Given the description of an element on the screen output the (x, y) to click on. 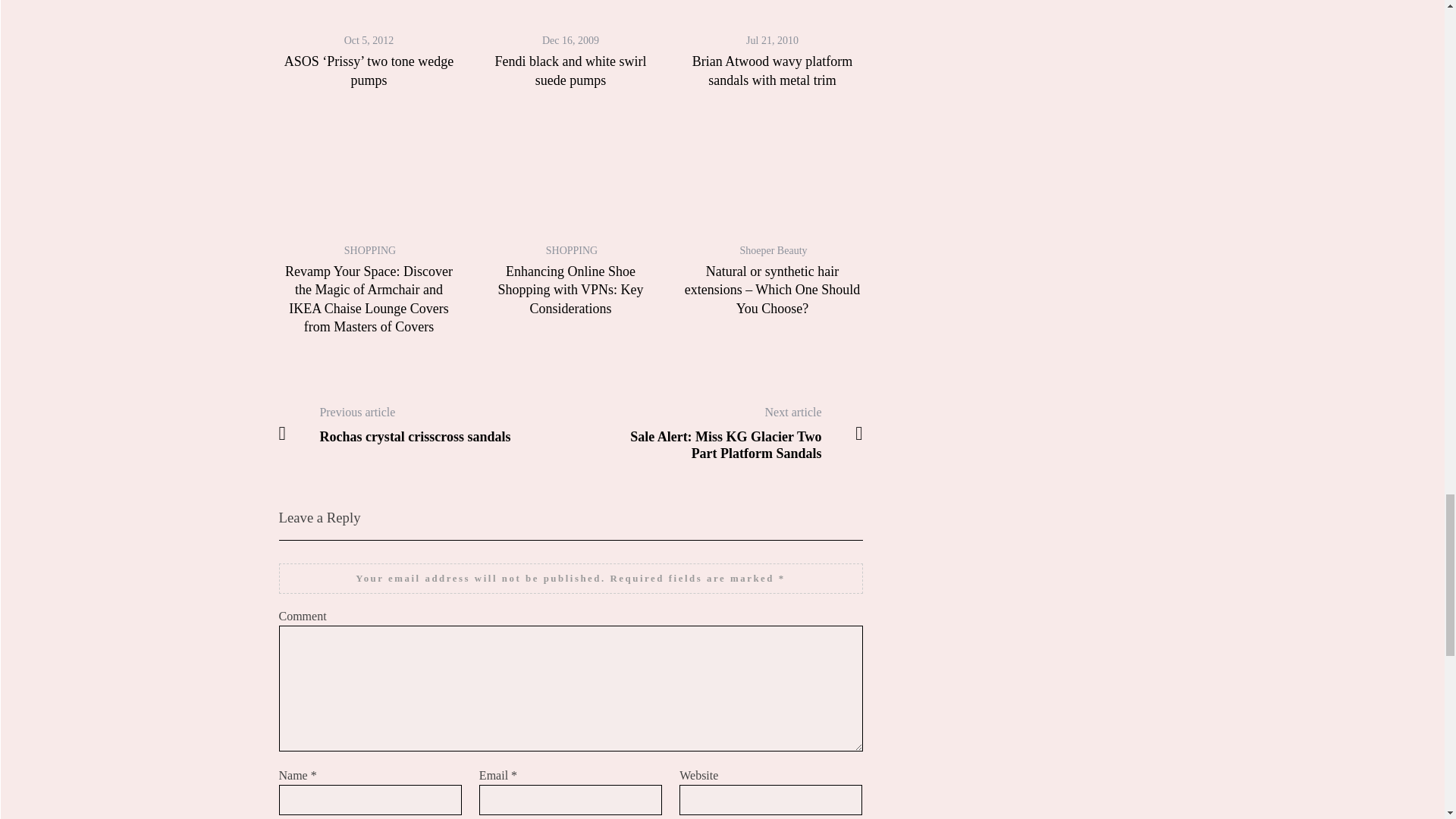
SHOPPING (571, 250)
Fendi black and white swirl suede pumps (570, 70)
Enhancing Online Shoe Shopping with VPNs: Key Considerations (570, 289)
Brian Atwood wavy platform sandals with metal trim (772, 70)
Shoeper Beauty (423, 424)
SHOPPING (772, 250)
